Given the description of an element on the screen output the (x, y) to click on. 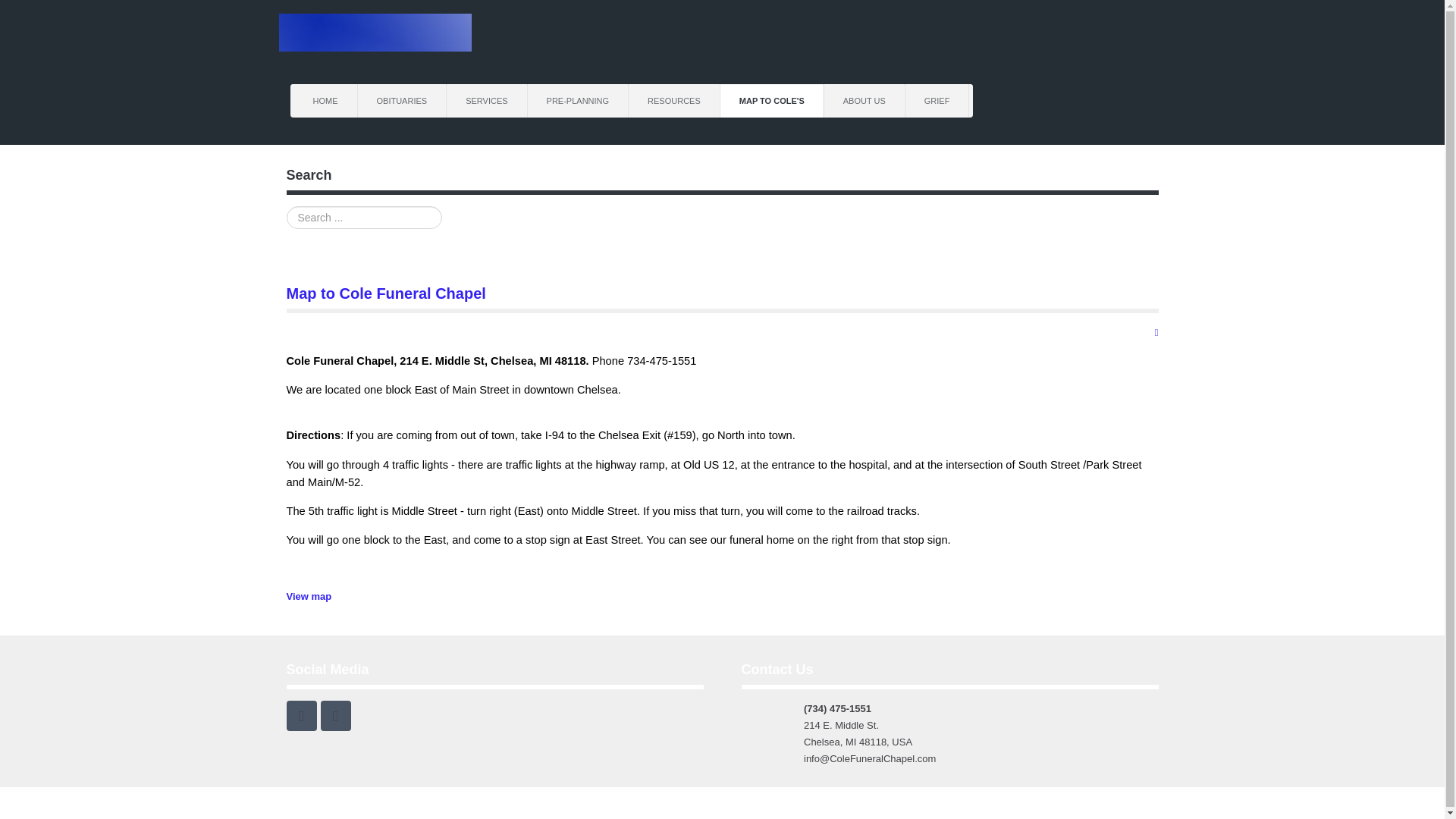
RESOURCES (674, 100)
HOME (326, 100)
MAP TO COLE'S (772, 100)
PRE-PLANNING (577, 100)
Map to Cole Funeral Chapel (386, 293)
OBITUARIES (402, 100)
Visit us on Facebook (301, 716)
View map (308, 595)
ABOUT US (864, 100)
GRIEF (937, 100)
Visit us on Google Plus (335, 716)
SERVICES (486, 100)
